Given the description of an element on the screen output the (x, y) to click on. 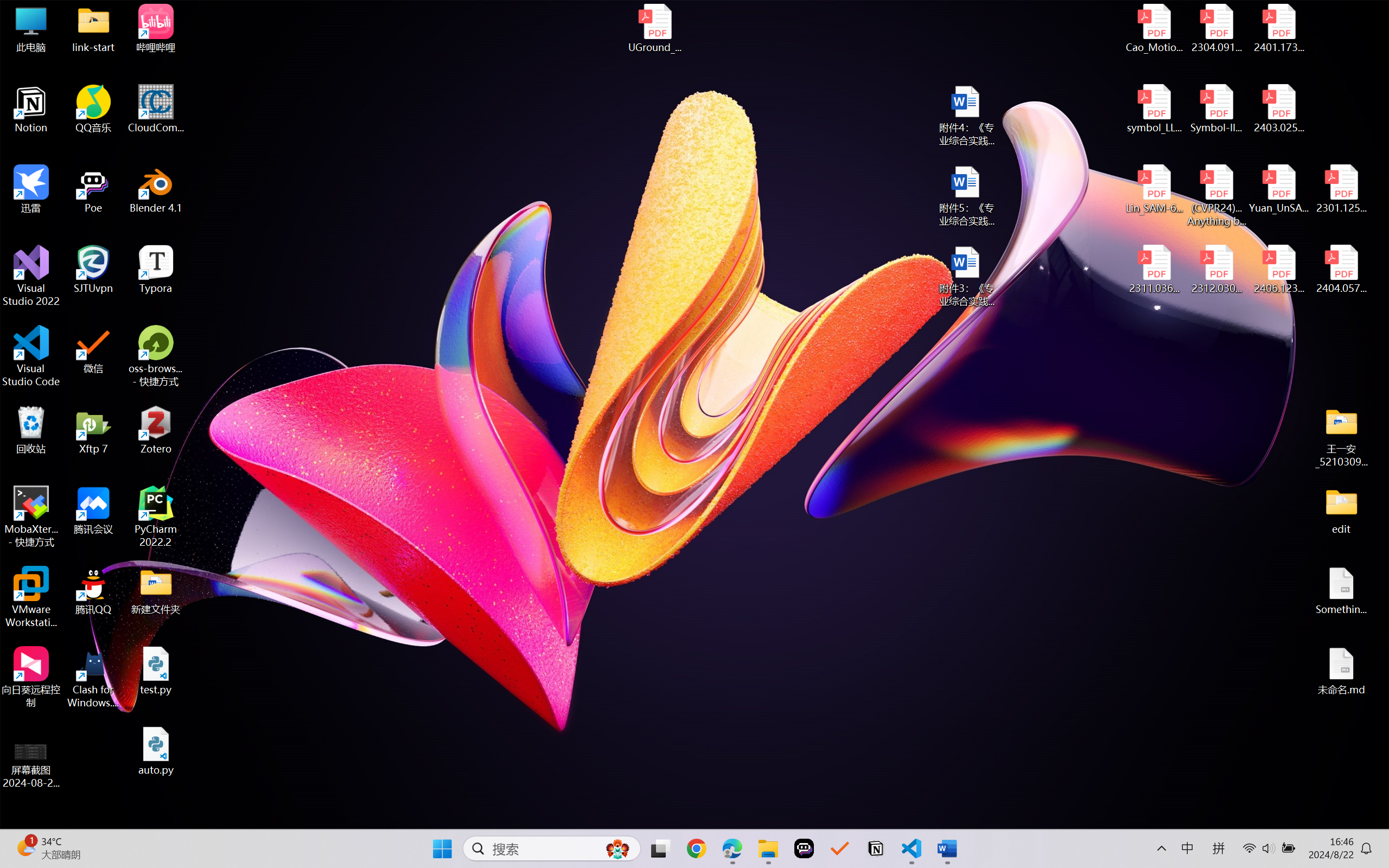
2406.12373v2.pdf (1278, 269)
symbol_LLM.pdf (1154, 109)
edit (1340, 510)
2304.09121v3.pdf (1216, 28)
Something.md (1340, 591)
2403.02502v1.pdf (1278, 109)
PyCharm 2022.2 (156, 516)
2401.17399v1.pdf (1278, 28)
Visual Studio 2022 (31, 276)
